Given the description of an element on the screen output the (x, y) to click on. 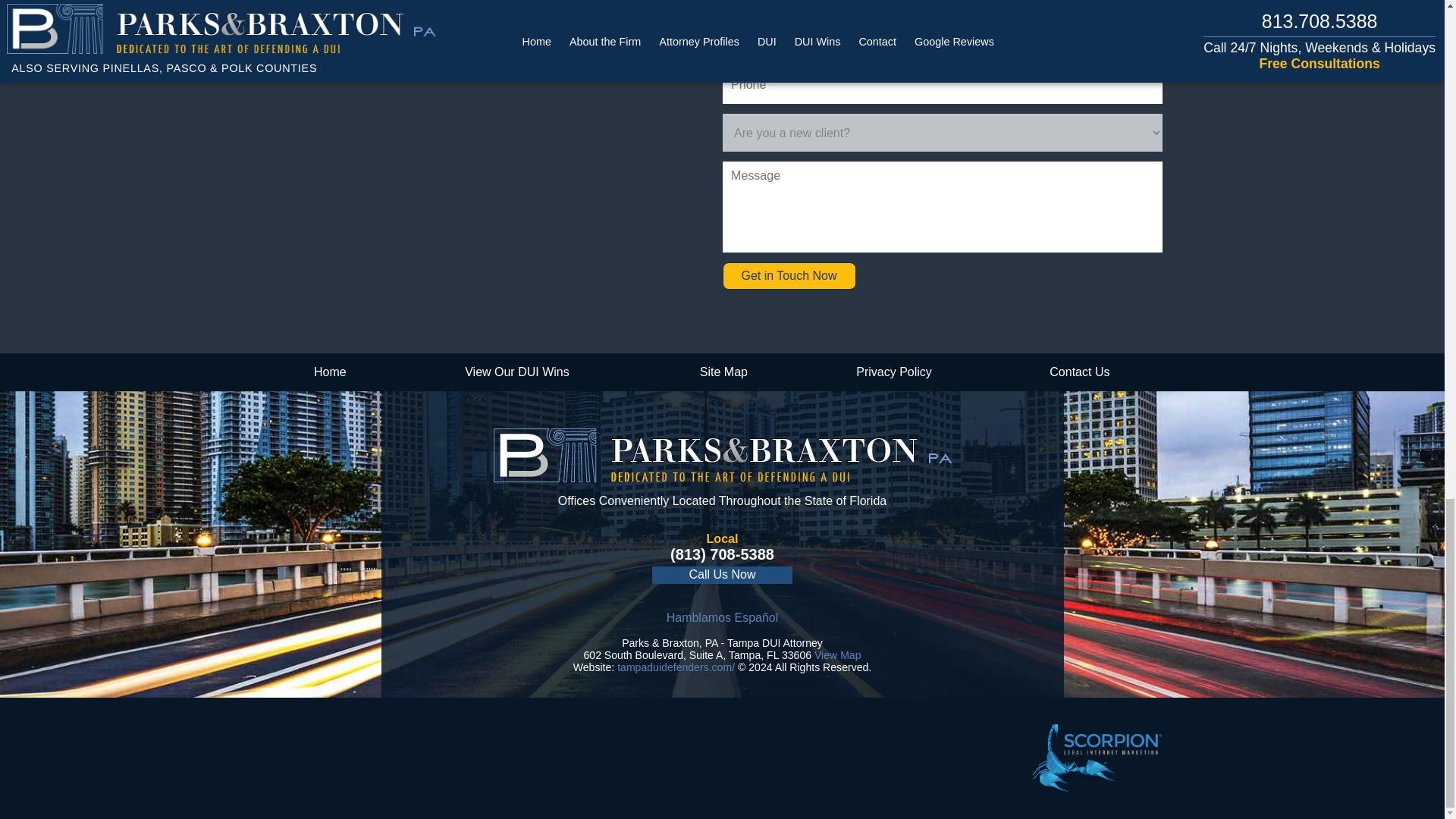
Get in Touch Now (789, 275)
Contact Us (1079, 371)
View Map (837, 654)
Site Map (723, 371)
Internet Marketing Experts (1095, 758)
Privacy Policy (894, 371)
View Our DUI Wins (516, 371)
Home (329, 371)
